Given the description of an element on the screen output the (x, y) to click on. 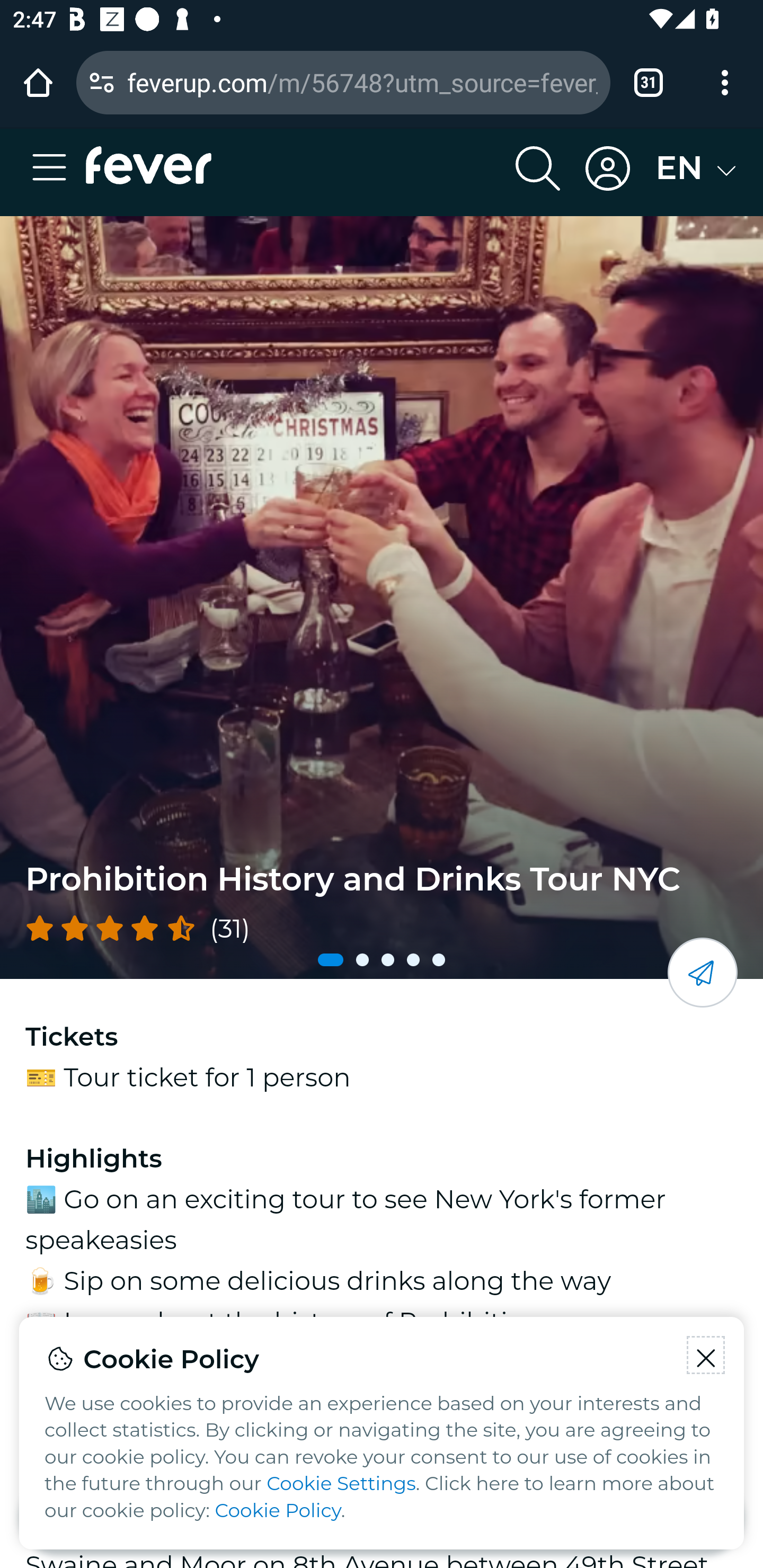
Open the home page (38, 82)
Connection is secure (101, 82)
Switch or close tabs (648, 82)
Customize and control Google Chrome (724, 82)
Toggle navigation (55, 168)
Cookie Settings (340, 1484)
Cookie Policy (277, 1510)
